Given the description of an element on the screen output the (x, y) to click on. 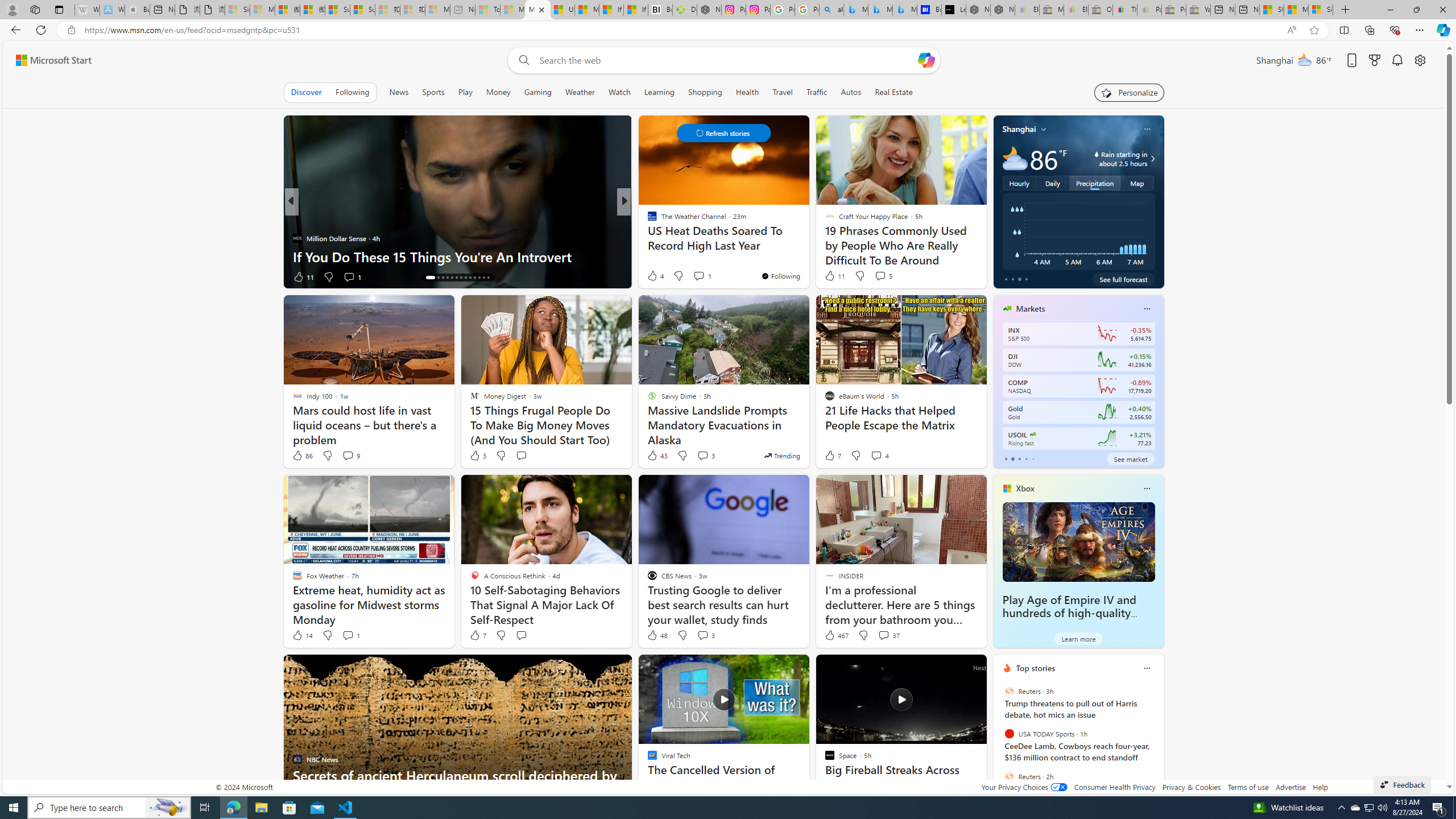
Groovy Era (647, 238)
20 Like (652, 276)
View comments 4 Comment (879, 455)
AutomationID: tab-14 (429, 277)
14 Like (301, 634)
tab-4 (1032, 458)
AutomationID: tab-26 (488, 277)
11 Like (834, 275)
